Given the description of an element on the screen output the (x, y) to click on. 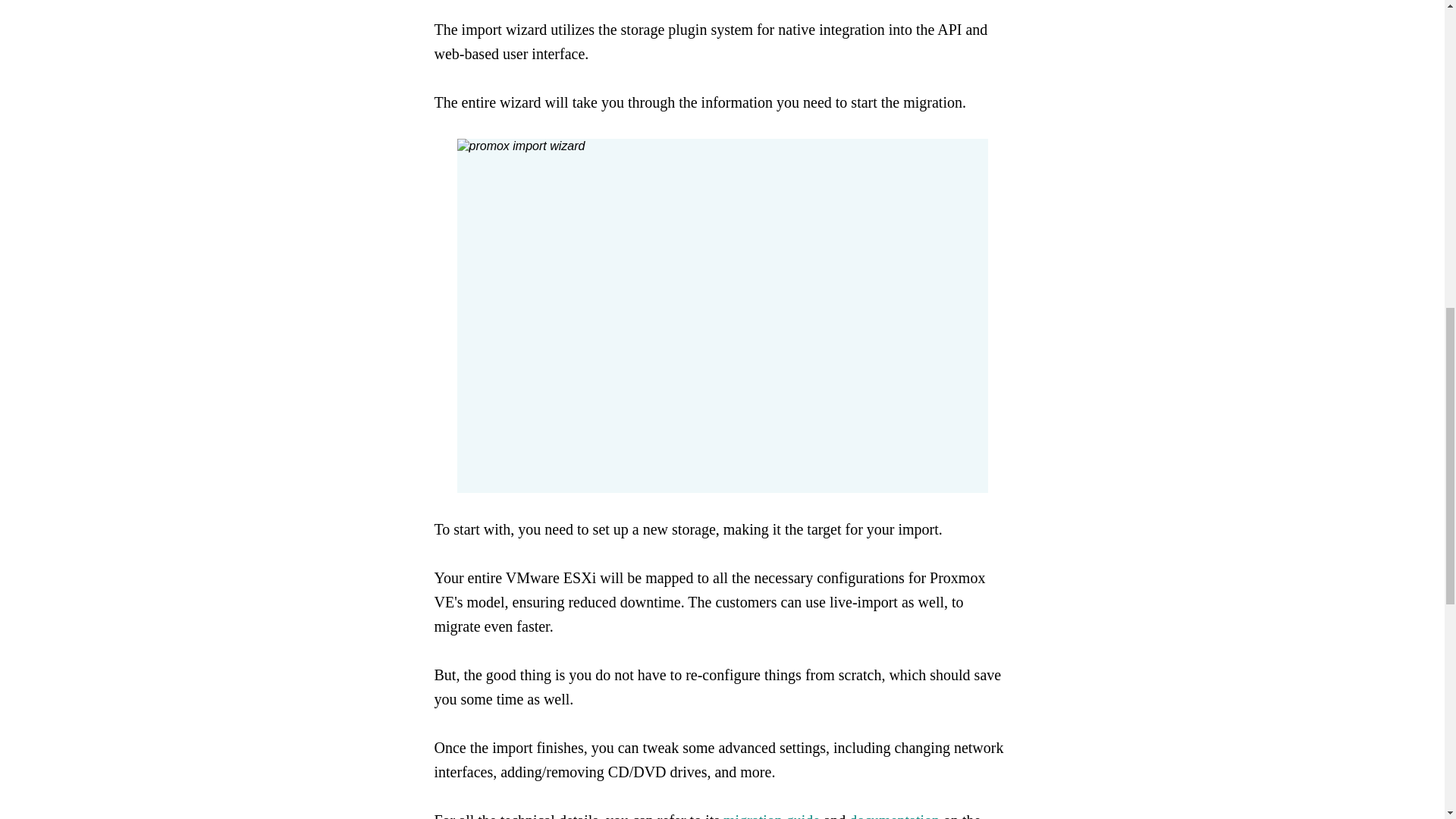
migration guide (771, 815)
documentation (893, 815)
